Given the description of an element on the screen output the (x, y) to click on. 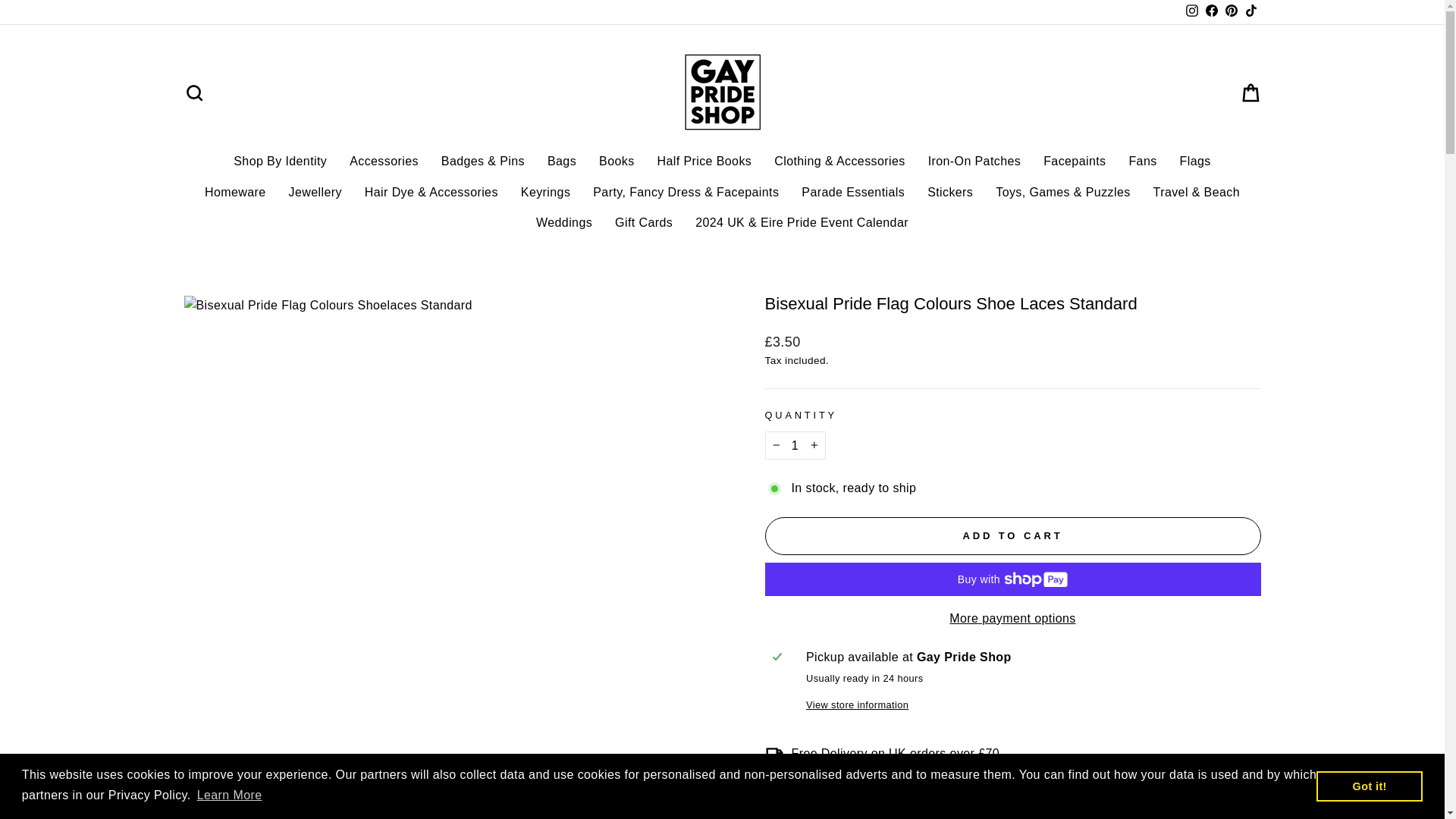
Got it! (1369, 786)
1 (794, 445)
Learn More (228, 794)
